Given the description of an element on the screen output the (x, y) to click on. 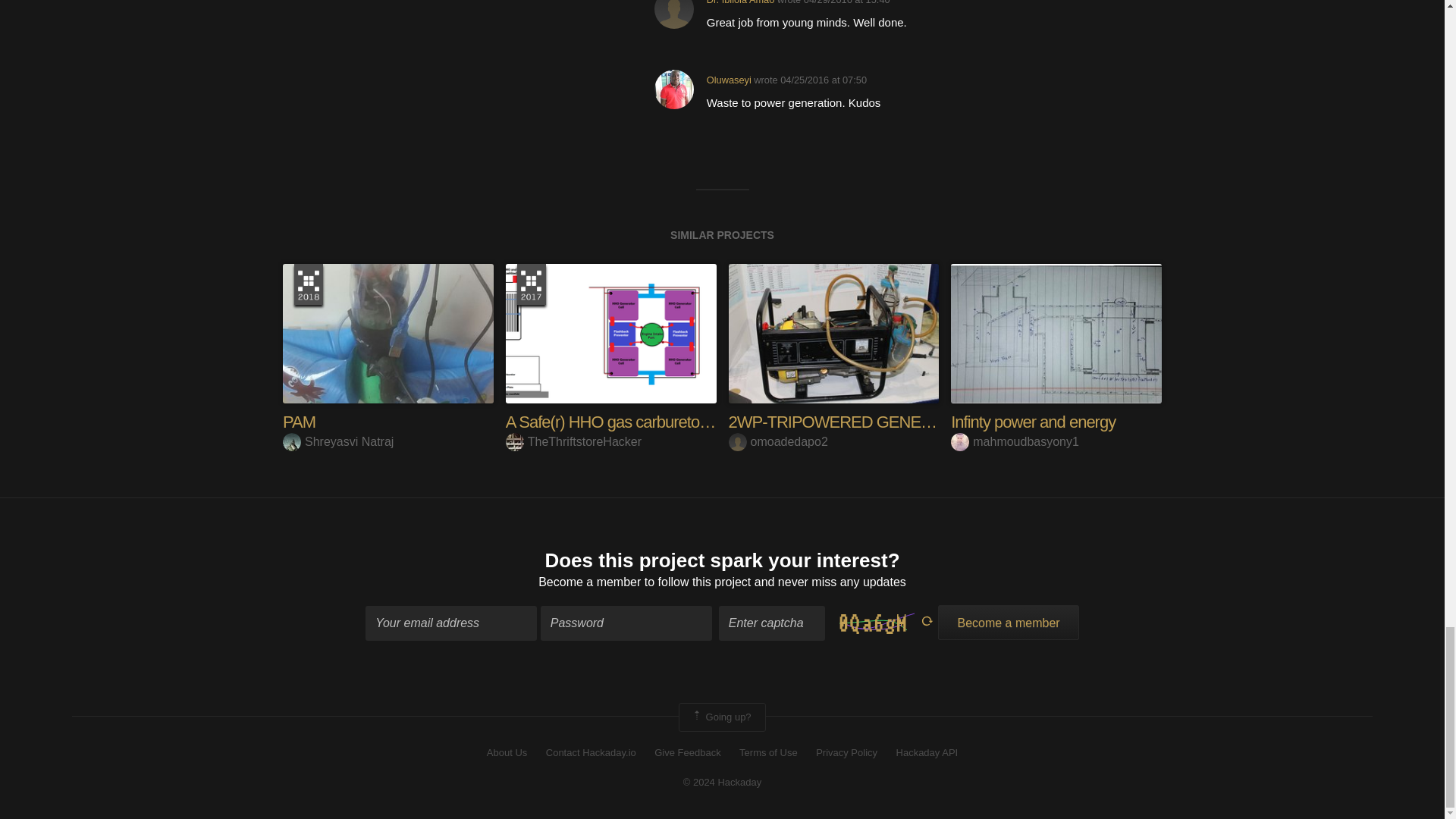
8 years ago (823, 79)
8 years ago (846, 2)
PAM (298, 421)
2WP-TRIPOWERED GENERATOR by omoadedapo2 (833, 332)
PAM by Shreyasvi Natraj (387, 332)
2WP-TRIPOWERED GENERATOR (851, 421)
